Given the description of an element on the screen output the (x, y) to click on. 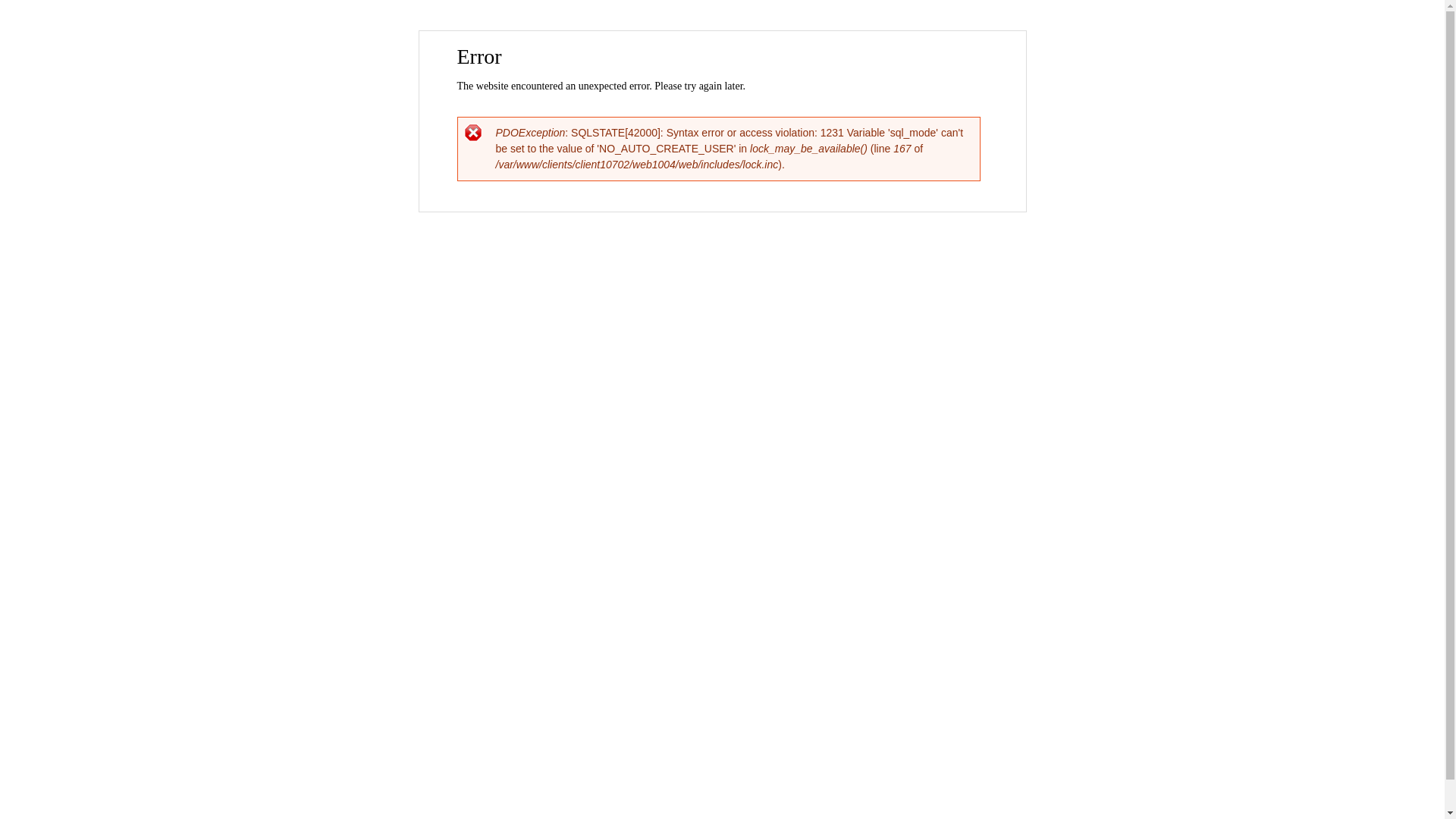
Skip to main content Element type: text (690, 31)
